Given the description of an element on the screen output the (x, y) to click on. 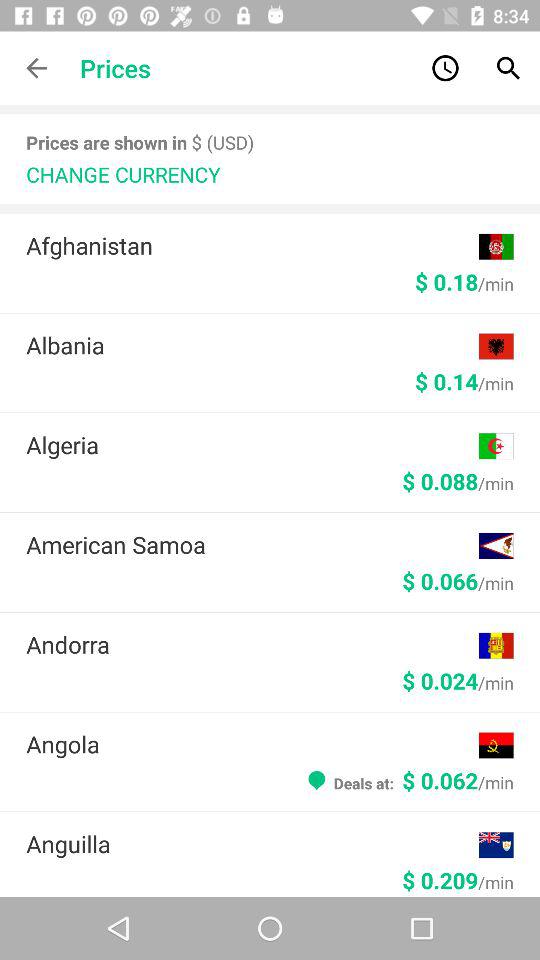
jump to the deals at 0 (408, 780)
